Given the description of an element on the screen output the (x, y) to click on. 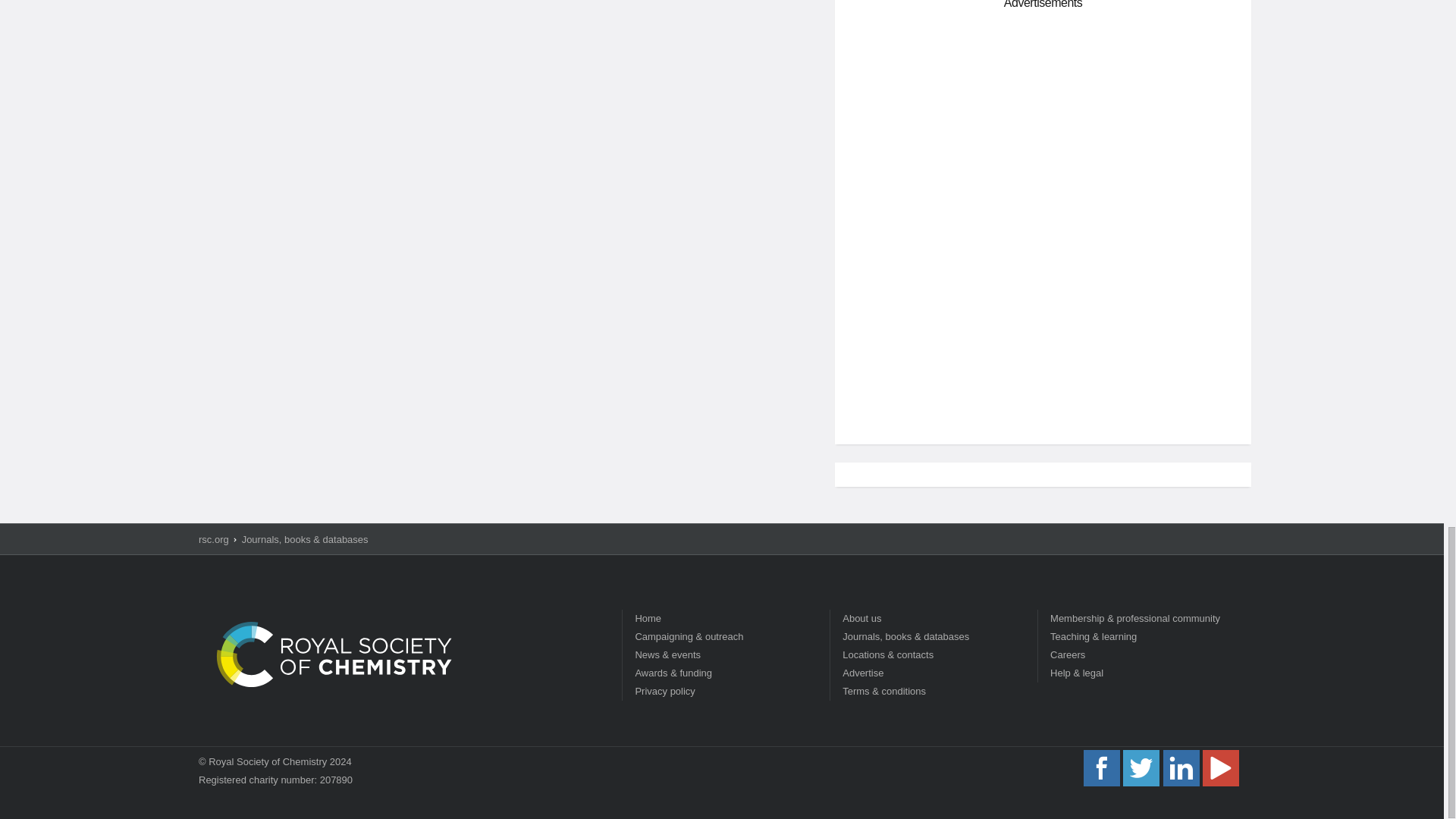
3rd party ad content (1043, 325)
3rd party ad content (1043, 123)
